Given the description of an element on the screen output the (x, y) to click on. 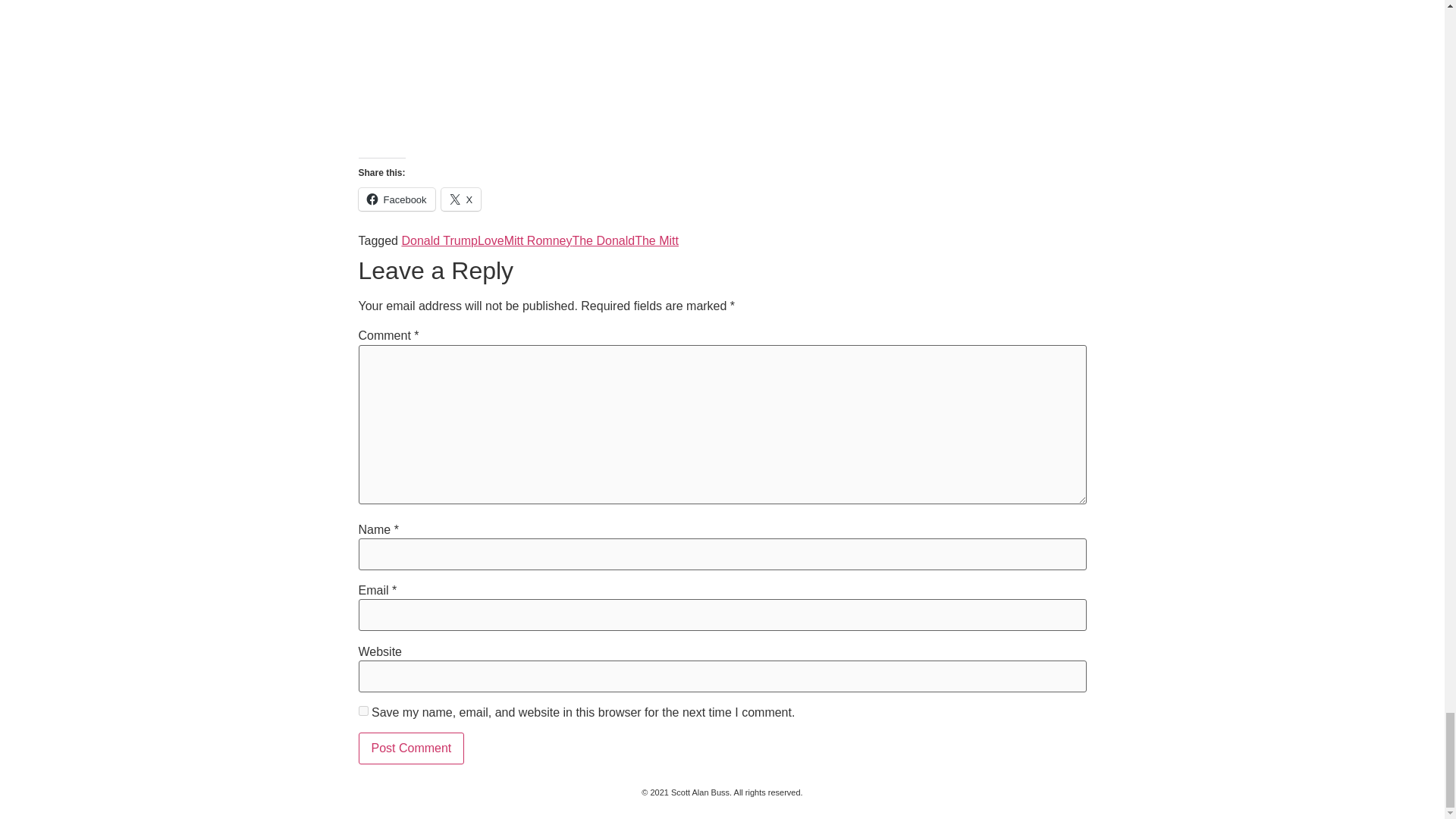
Click to share on X (461, 199)
yes (363, 710)
Click to share on Facebook (395, 199)
Post Comment (411, 748)
